Given the description of an element on the screen output the (x, y) to click on. 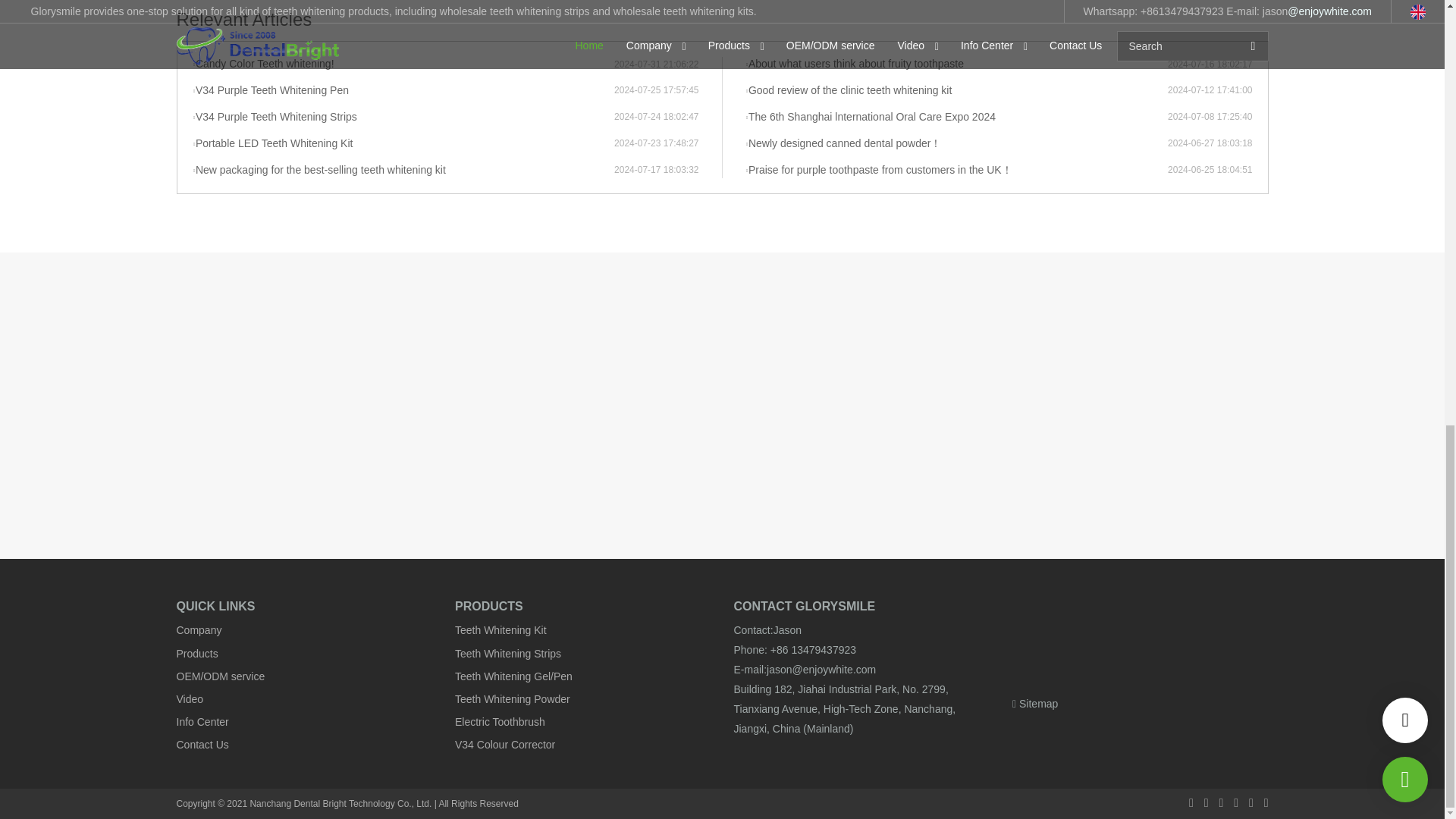
Portable LED Teeth Whitening Kit (403, 143)
Candy Color Teeth whitening! (403, 64)
V34 Purple Teeth Whitening Pen (403, 90)
V34 Purple Teeth Whitening Strips (403, 117)
